Given the description of an element on the screen output the (x, y) to click on. 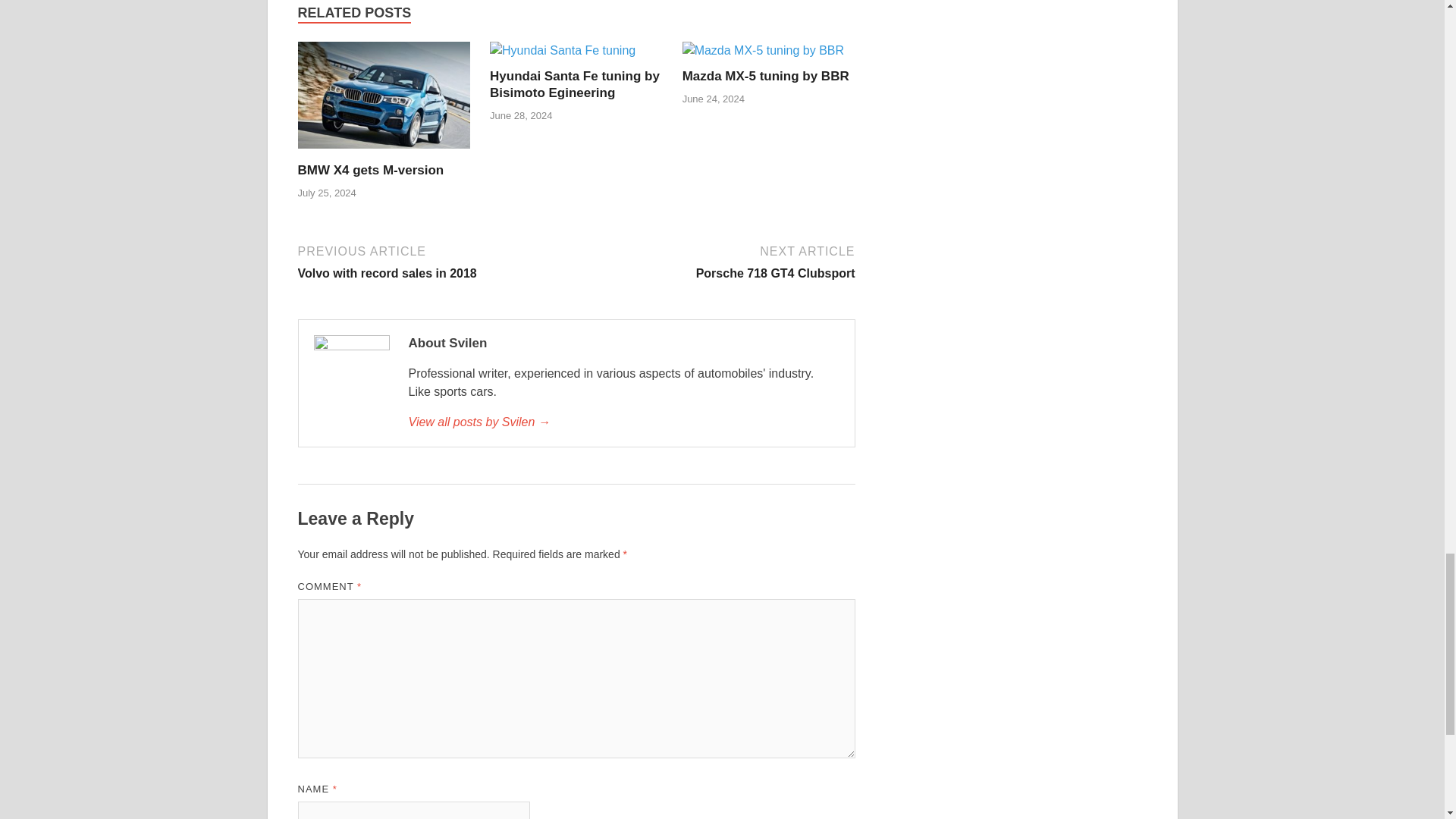
BMW X4 gets M-version (383, 152)
Hyundai Santa Fe tuning by Bisimoto Egineering (574, 83)
Mazda MX-5 tuning by BBR (765, 75)
BMW X4 gets M-version (370, 169)
Mazda MX-5 tuning by BBR (763, 50)
Hyundai Santa Fe tuning by Bisimoto Egineering (574, 83)
Svilen (622, 422)
Mazda MX-5 tuning by BBR (717, 261)
